Given the description of an element on the screen output the (x, y) to click on. 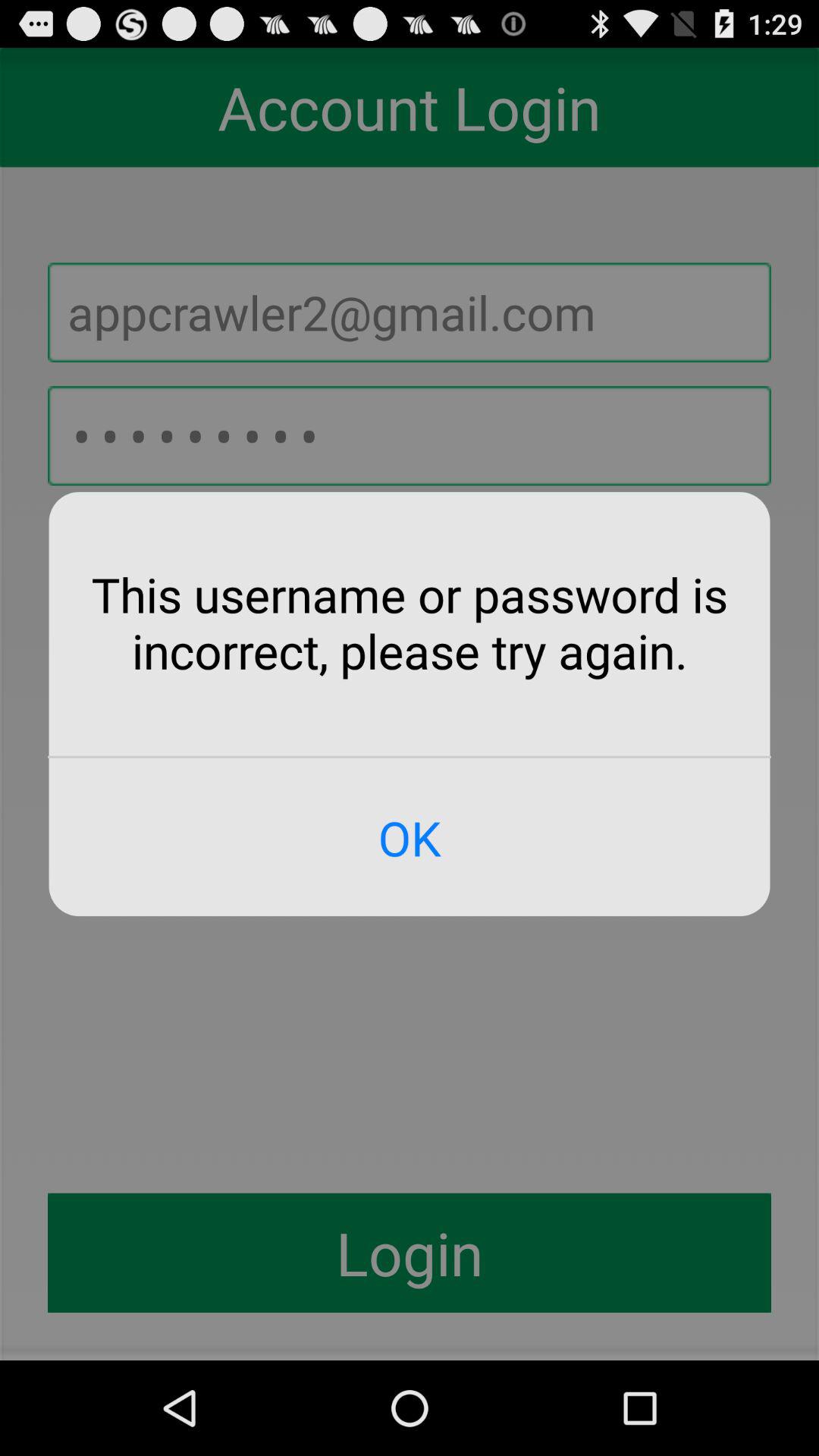
click ok app (409, 837)
